Given the description of an element on the screen output the (x, y) to click on. 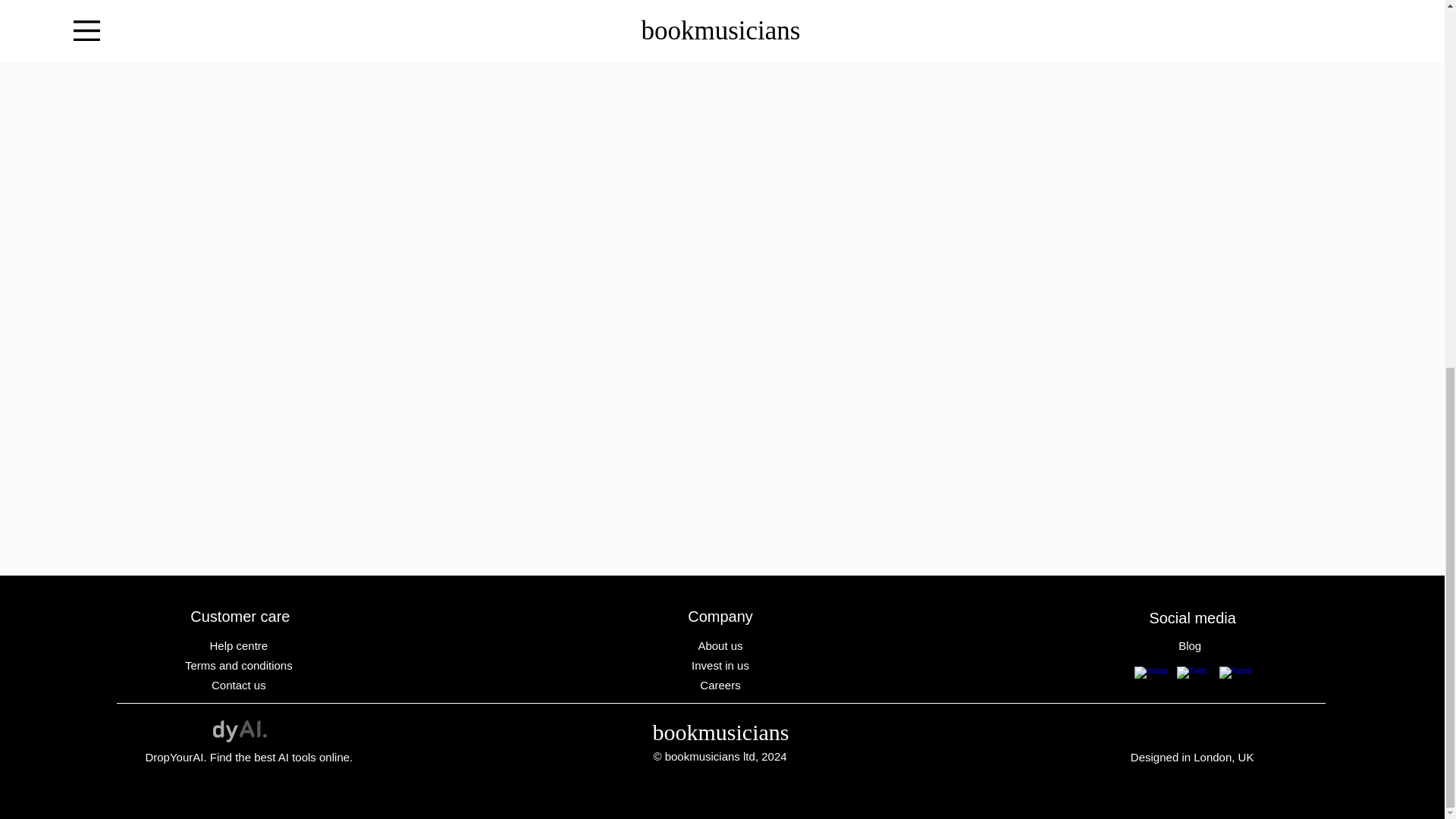
Help centre (239, 645)
Contact us (239, 685)
Careers (721, 685)
About us (721, 645)
Blog (1191, 645)
Terms and conditions (239, 665)
Invest in us (721, 665)
